Given the description of an element on the screen output the (x, y) to click on. 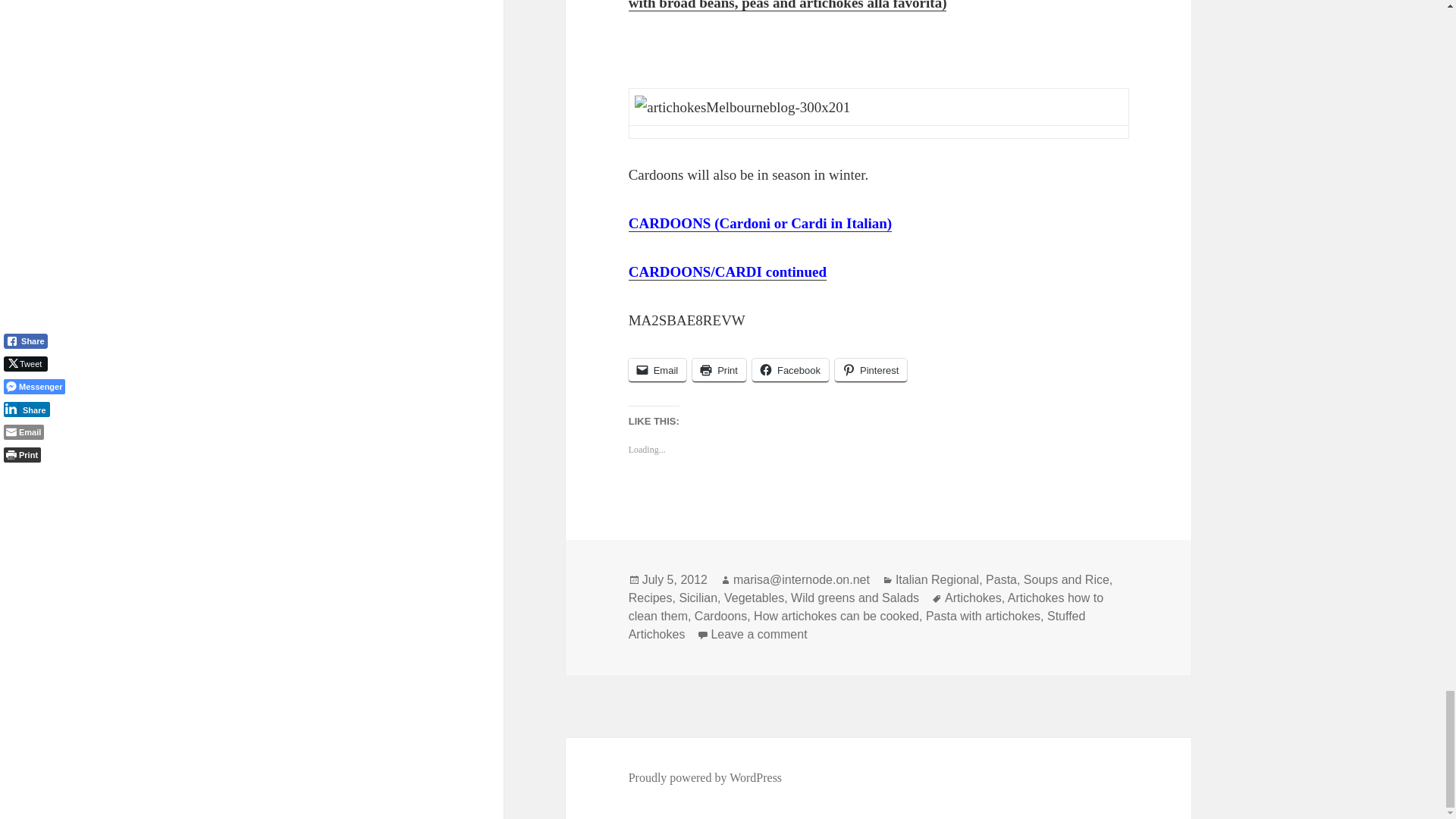
Click to email a link to a friend (657, 369)
Click to print (719, 369)
Click to share on Pinterest (870, 369)
Click to share on Facebook (790, 369)
